Given the description of an element on the screen output the (x, y) to click on. 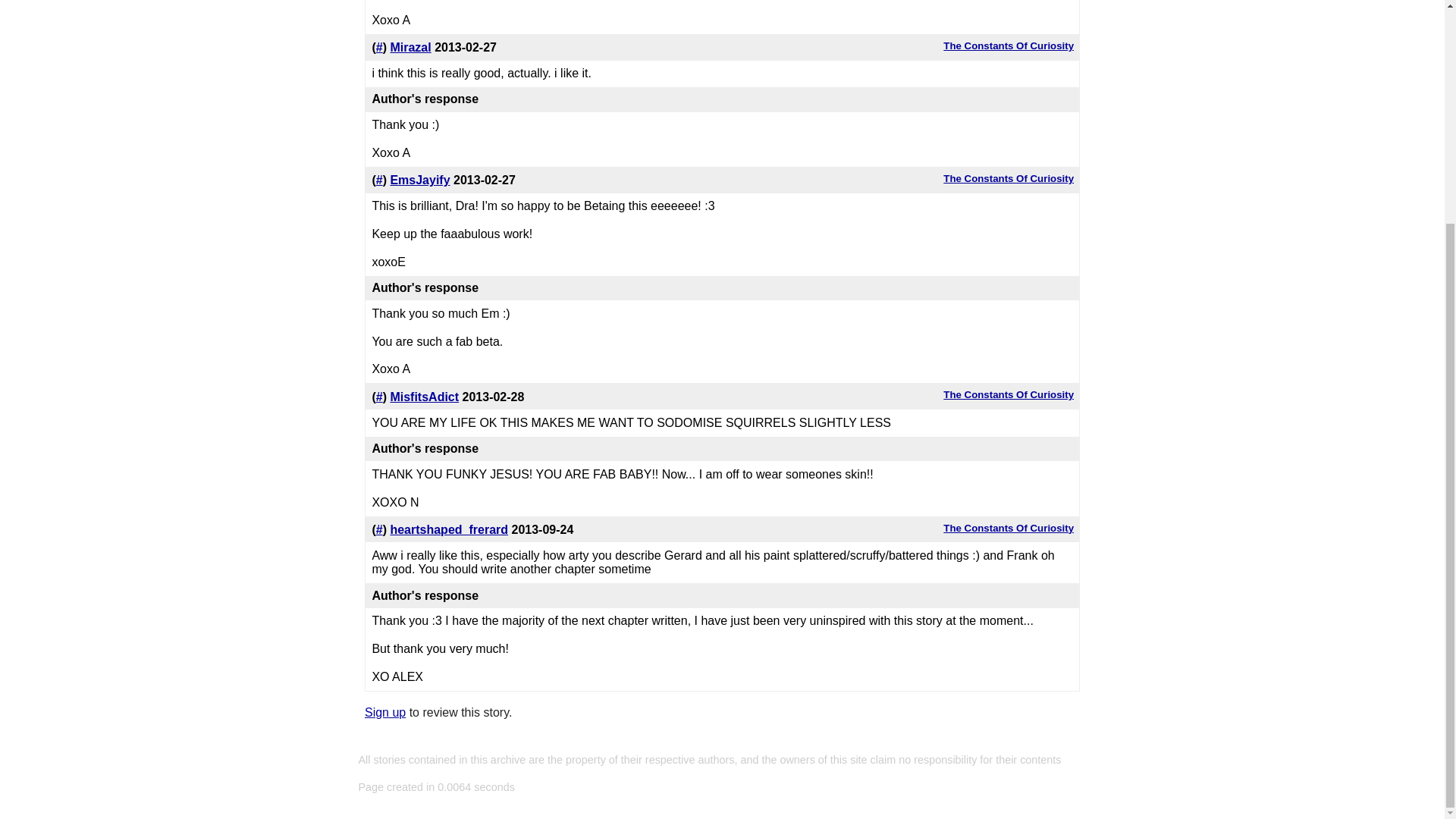
2013-09-24 20:36:15 (542, 529)
2013-02-27 21:25:23 (483, 179)
2013-02-28 04:45:41 (493, 396)
The Constants Of Curiosity (1008, 45)
The Constants Of Curiosity (1008, 527)
Mirazal (410, 47)
MisfitsAdict (424, 396)
EmsJayify (419, 179)
The Constants Of Curiosity (1008, 394)
The Constants Of Curiosity (1008, 178)
Sign up (385, 712)
2013-02-27 20:27:18 (464, 47)
